Given the description of an element on the screen output the (x, y) to click on. 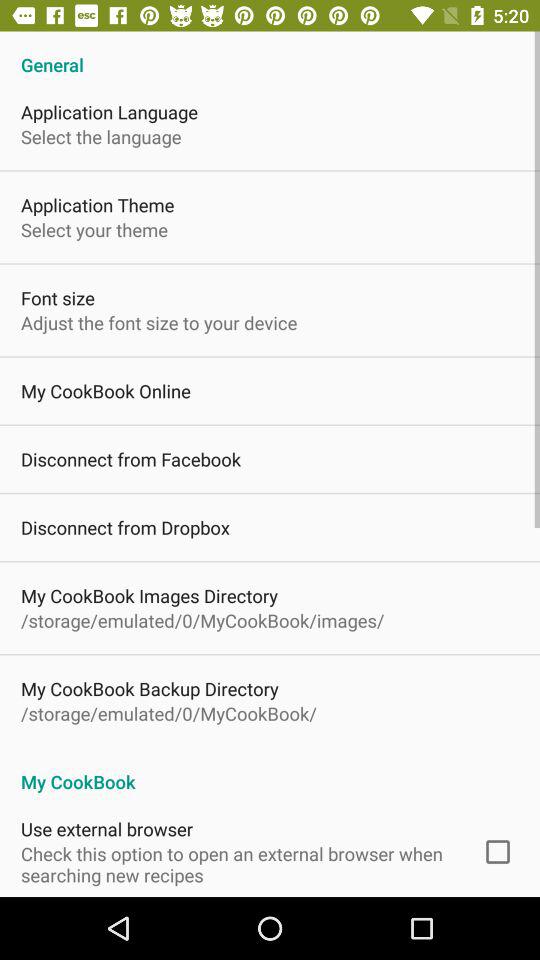
scroll until the select your theme icon (94, 229)
